Given the description of an element on the screen output the (x, y) to click on. 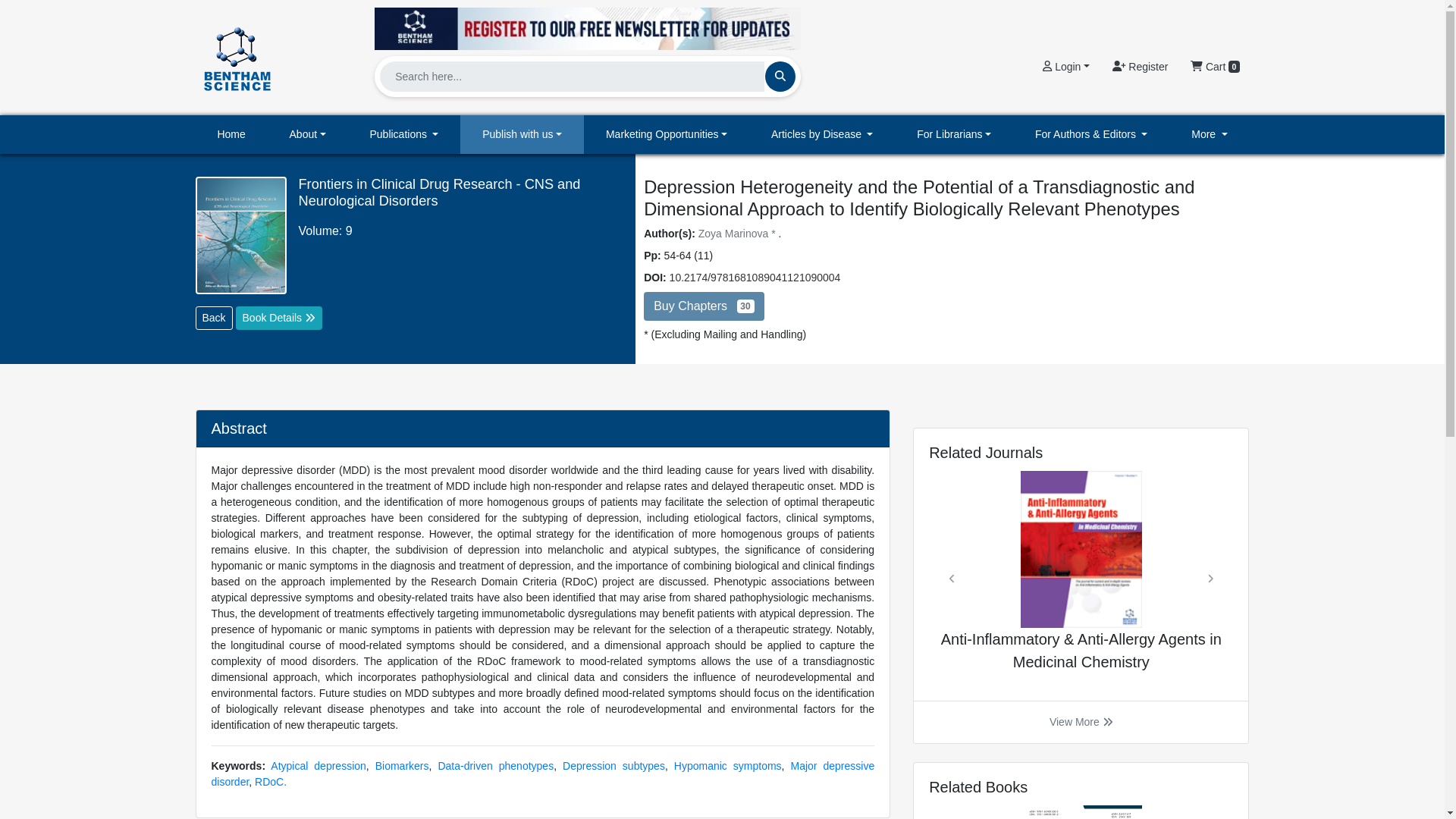
Login (1065, 67)
Cart 0 (1214, 67)
About (307, 134)
newsletter banner (587, 24)
Publications (404, 134)
newsletter banner (587, 28)
Search Button (779, 76)
Home (231, 134)
Register (1139, 67)
